Given the description of an element on the screen output the (x, y) to click on. 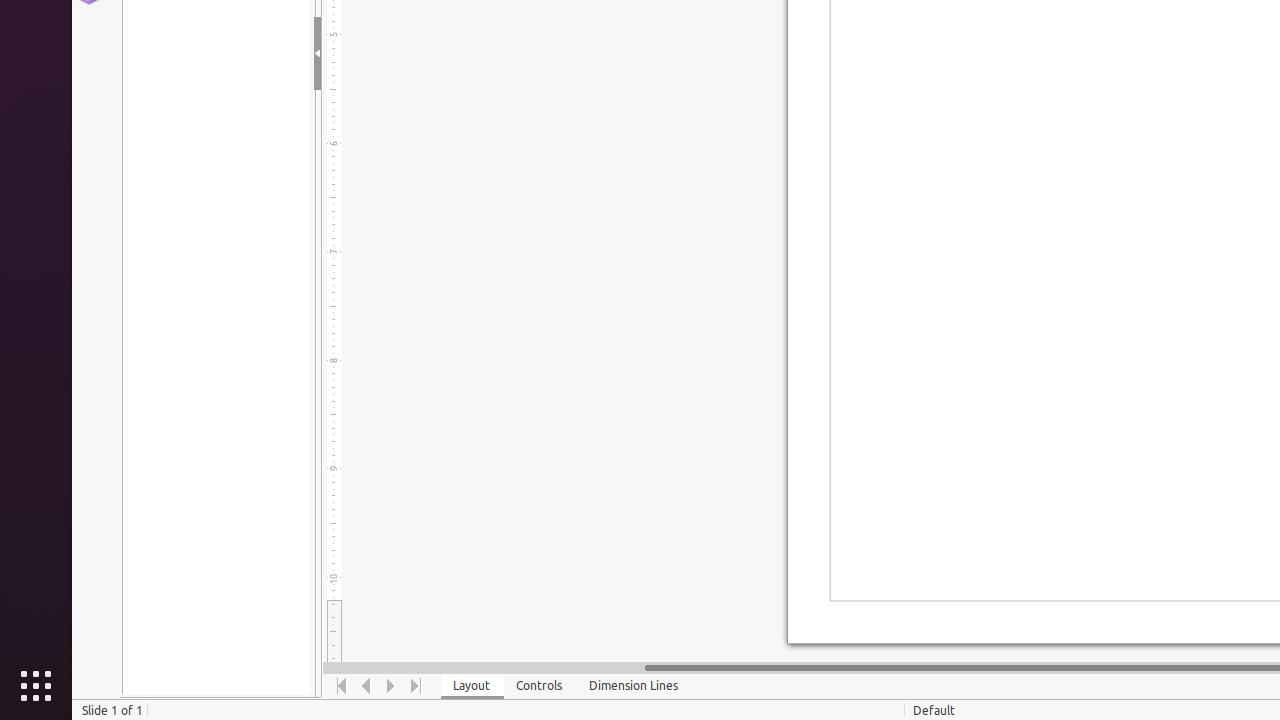
Move To End Element type: push-button (416, 686)
Dimension Lines Element type: page-tab (634, 686)
Controls Element type: page-tab (540, 686)
Layout Element type: page-tab (472, 686)
Show Applications Element type: toggle-button (36, 686)
